Given the description of an element on the screen output the (x, y) to click on. 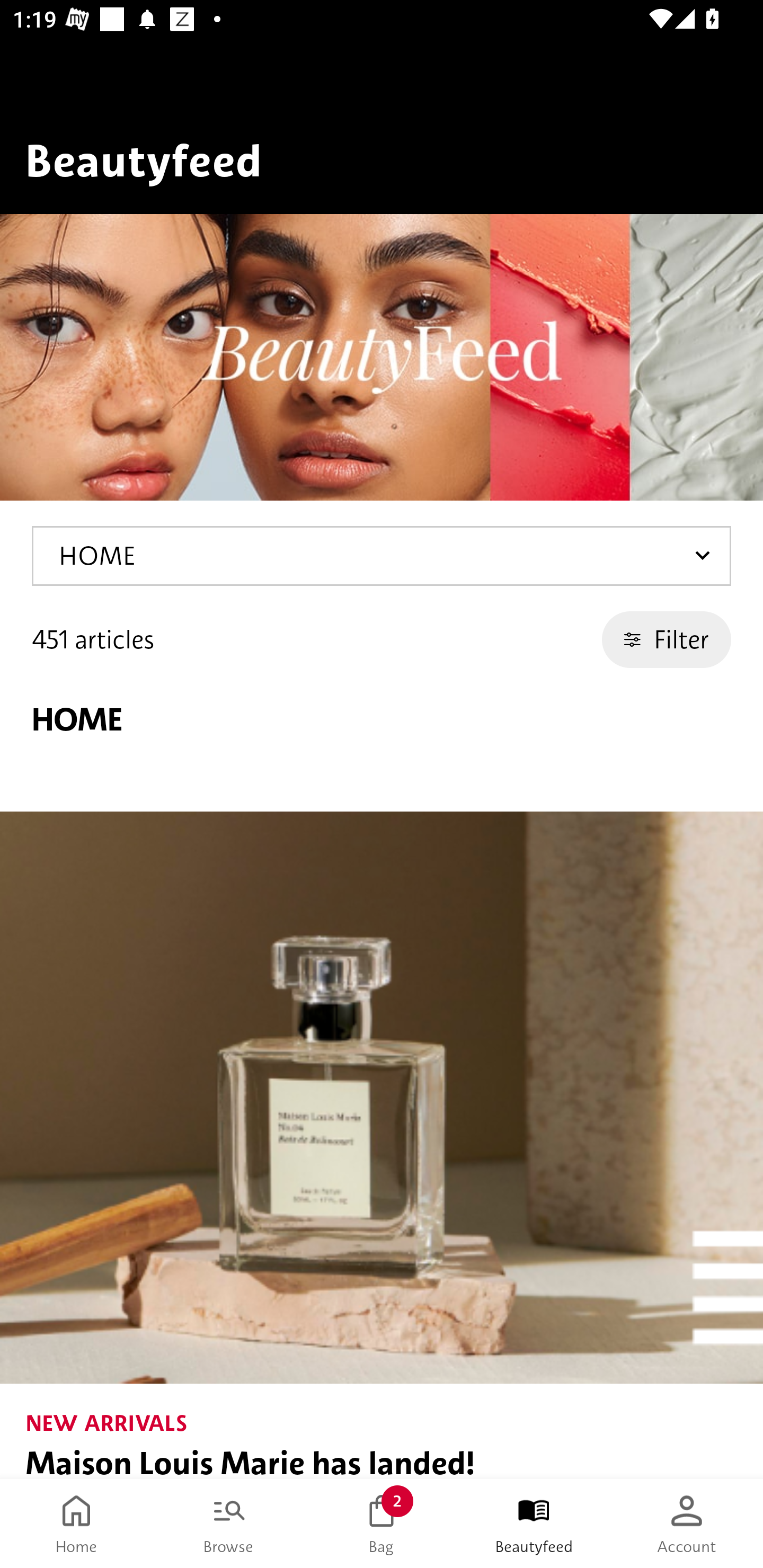
HOME (381, 555)
Filter (666, 639)
NEW ARRIVALS Maison Louis Marie has landed! (381, 1145)
Home (76, 1523)
Browse (228, 1523)
Bag 2 Bag (381, 1523)
Account (686, 1523)
